Given the description of an element on the screen output the (x, y) to click on. 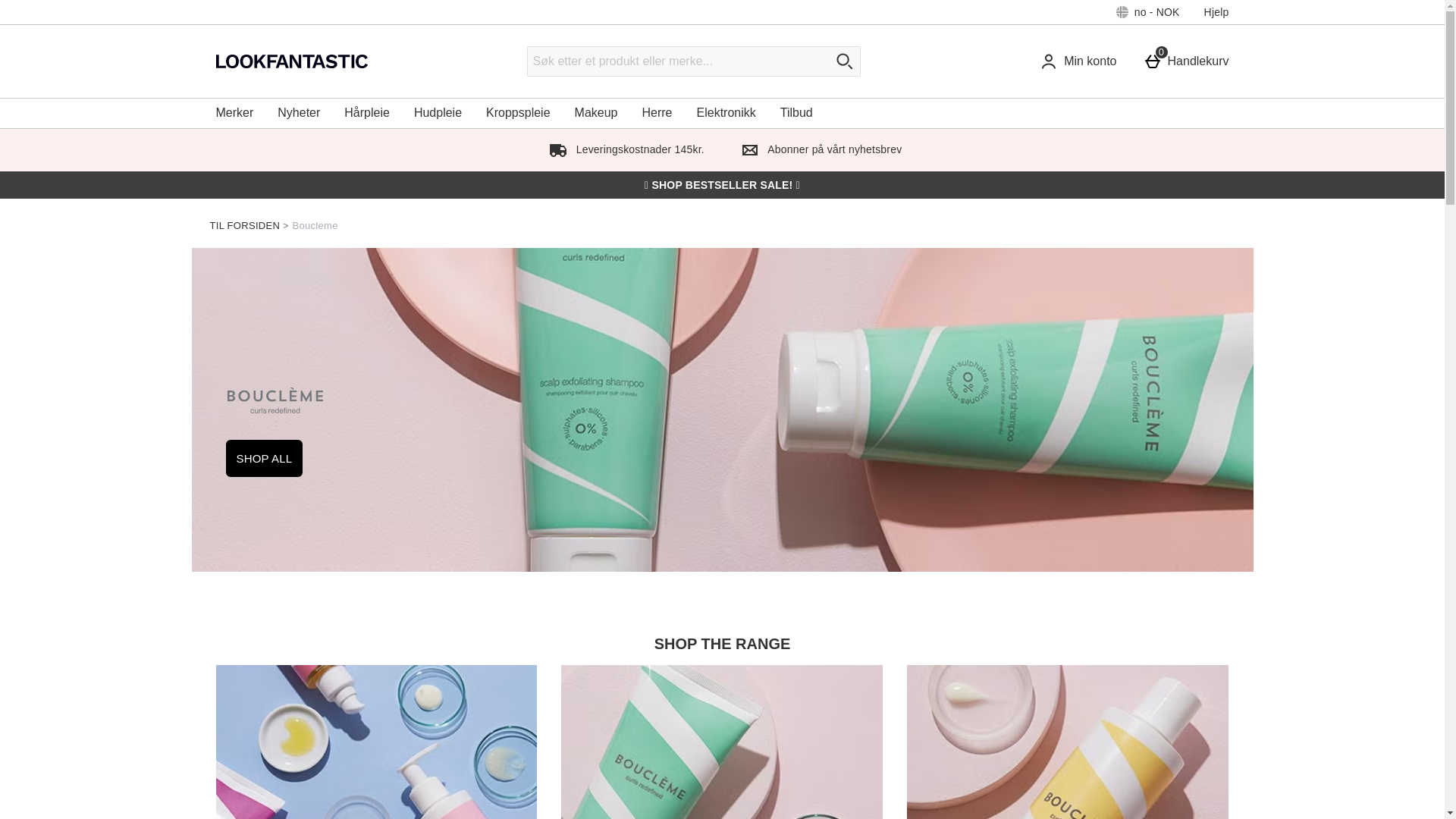
no - NOK (1147, 12)
Merker (233, 112)
Min konto (1080, 61)
Start search (844, 60)
Skip to main content (1189, 61)
Hjelp (55, 6)
